Given the description of an element on the screen output the (x, y) to click on. 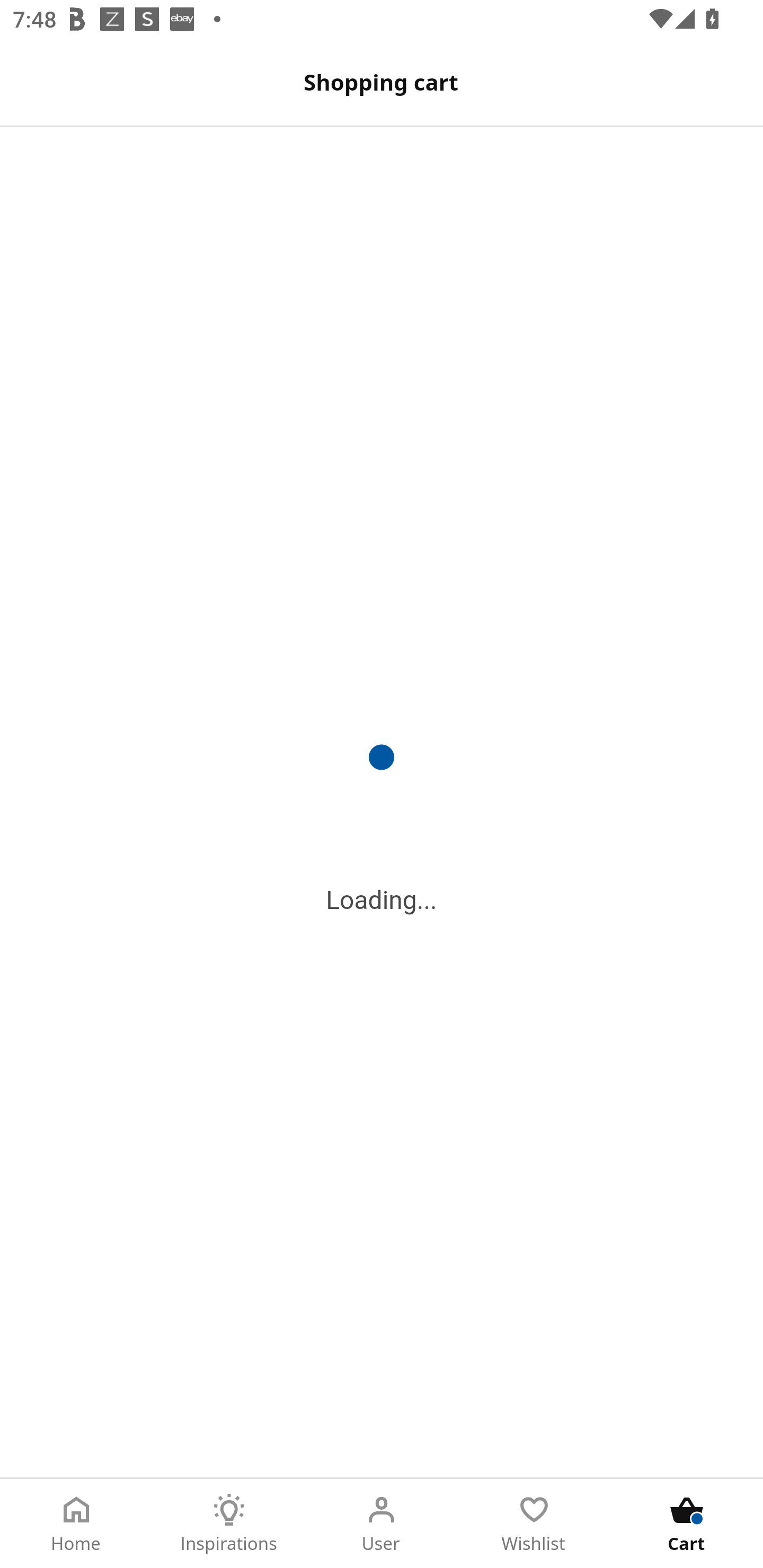
Home
Tab 1 of 5 (76, 1522)
Inspirations
Tab 2 of 5 (228, 1522)
User
Tab 3 of 5 (381, 1522)
Wishlist
Tab 4 of 5 (533, 1522)
Cart
Tab 5 of 5 (686, 1522)
